Given the description of an element on the screen output the (x, y) to click on. 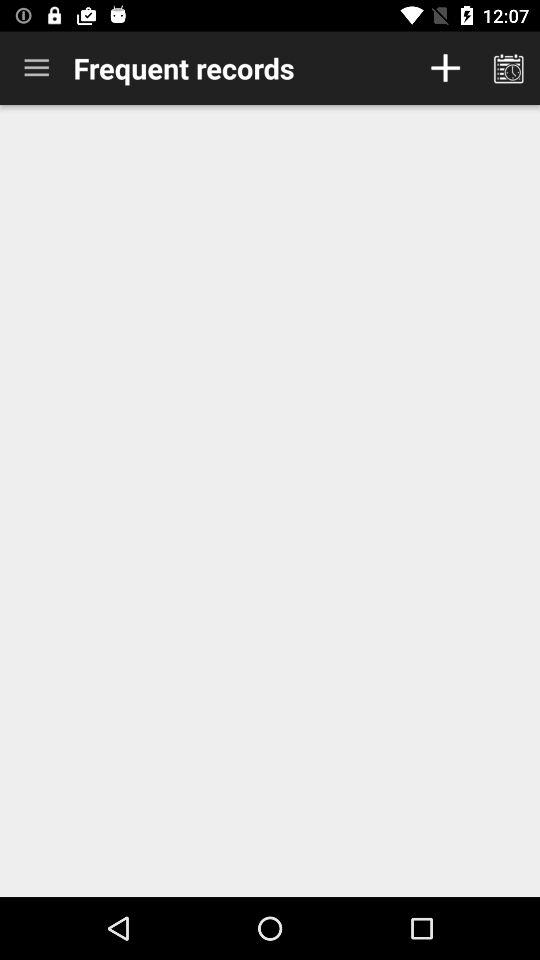
add item (445, 67)
